Given the description of an element on the screen output the (x, y) to click on. 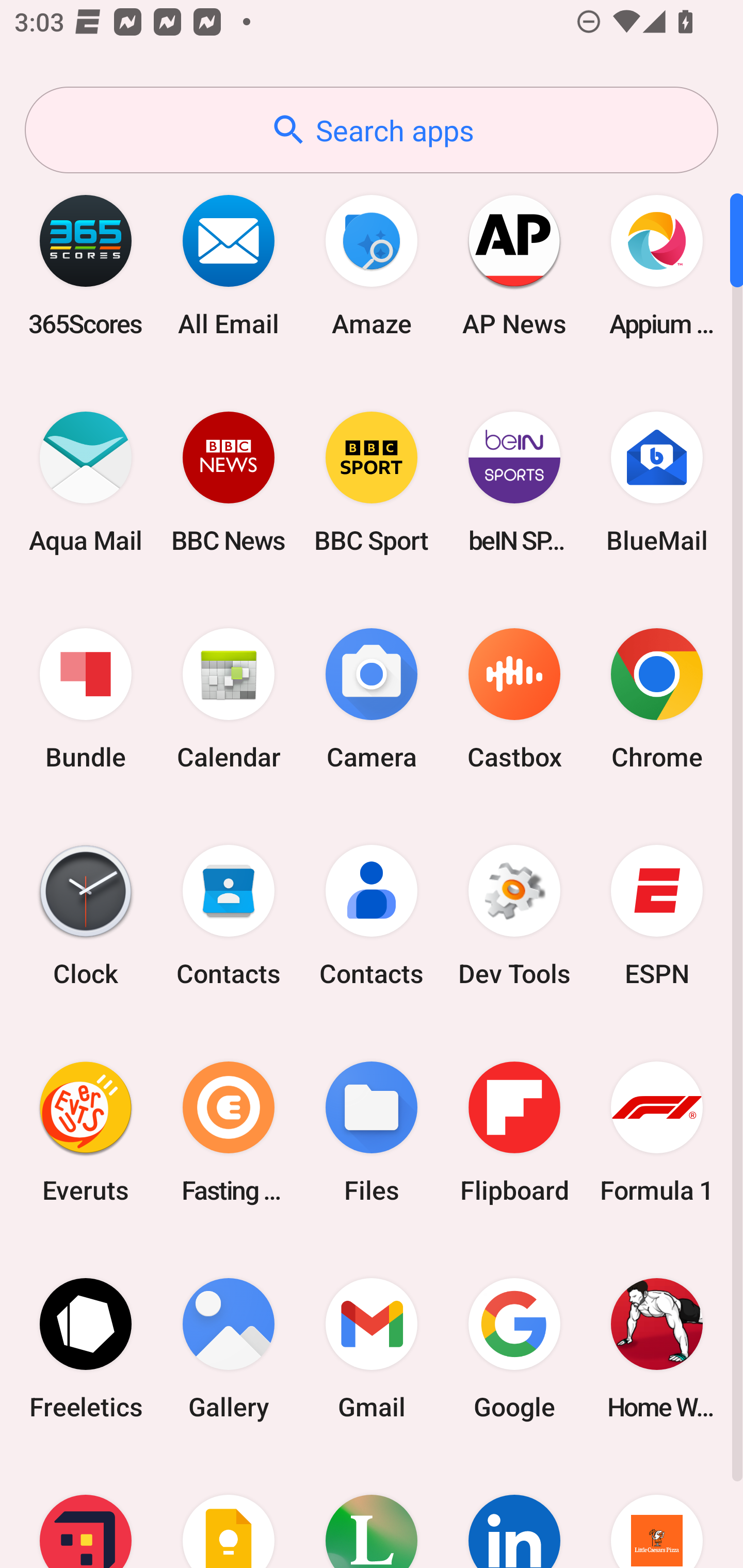
  Search apps (371, 130)
365Scores (85, 264)
All Email (228, 264)
Amaze (371, 264)
AP News (514, 264)
Appium Settings (656, 264)
Aqua Mail (85, 482)
BBC News (228, 482)
BBC Sport (371, 482)
beIN SPORTS (514, 482)
BlueMail (656, 482)
Bundle (85, 699)
Calendar (228, 699)
Camera (371, 699)
Castbox (514, 699)
Chrome (656, 699)
Clock (85, 915)
Contacts (228, 915)
Contacts (371, 915)
Dev Tools (514, 915)
ESPN (656, 915)
Everuts (85, 1131)
Fasting Coach (228, 1131)
Files (371, 1131)
Flipboard (514, 1131)
Formula 1 (656, 1131)
Freeletics (85, 1348)
Gallery (228, 1348)
Gmail (371, 1348)
Google (514, 1348)
Home Workout (656, 1348)
Hotels.com (85, 1512)
Keep Notes (228, 1512)
Lifesum (371, 1512)
LinkedIn (514, 1512)
Little Caesars Pizza (656, 1512)
